Given the description of an element on the screen output the (x, y) to click on. 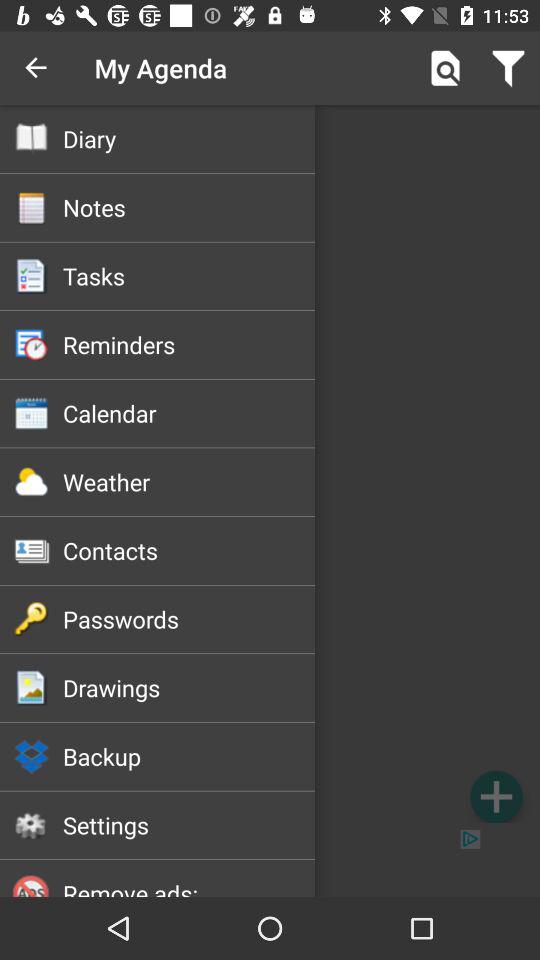
turn off item below the notes icon (188, 276)
